Given the description of an element on the screen output the (x, y) to click on. 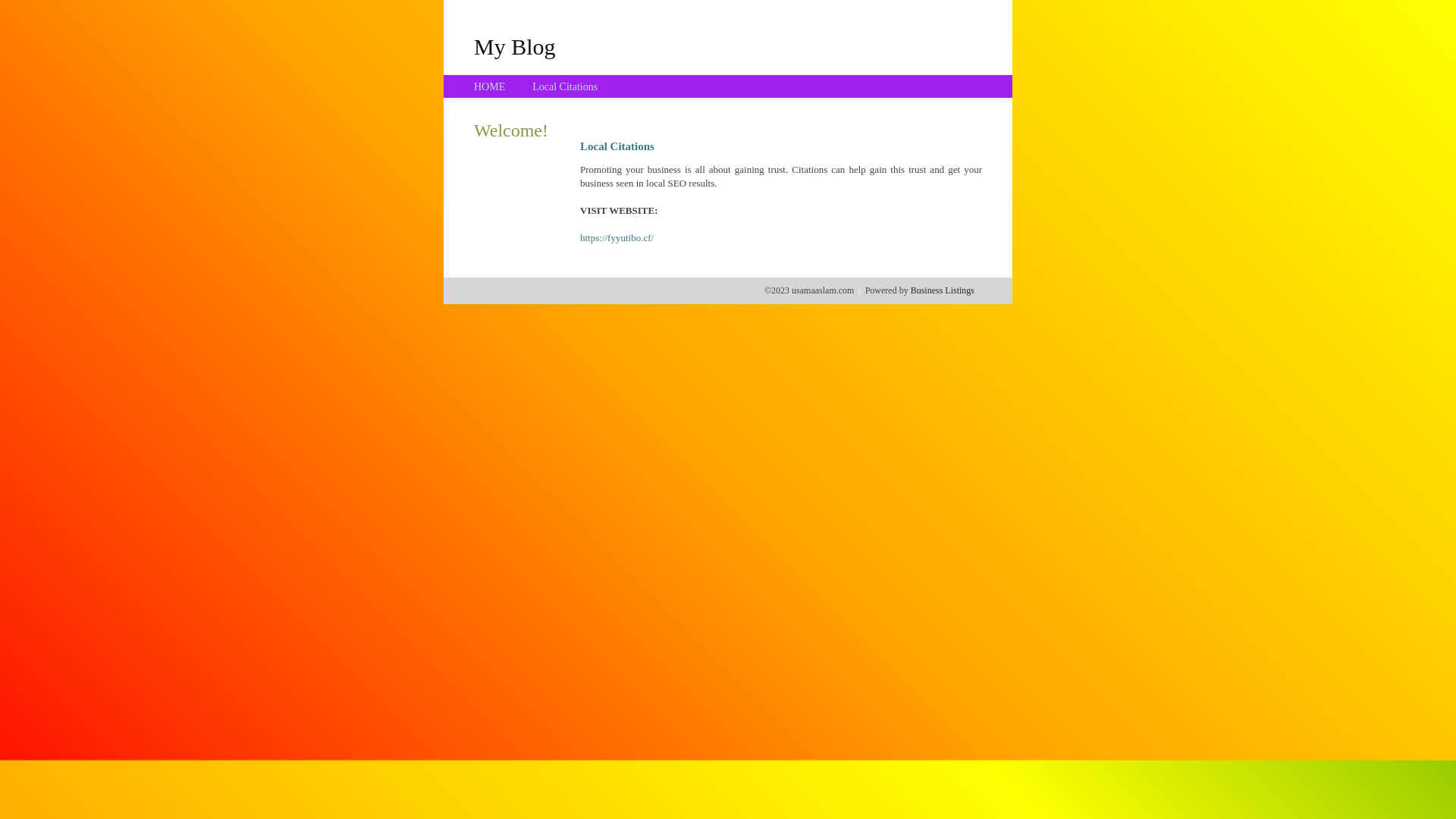
https://fyyutibo.cf/ Element type: text (616, 237)
Business Listings Element type: text (942, 290)
Local Citations Element type: text (564, 86)
HOME Element type: text (489, 86)
My Blog Element type: text (514, 46)
